Given the description of an element on the screen output the (x, y) to click on. 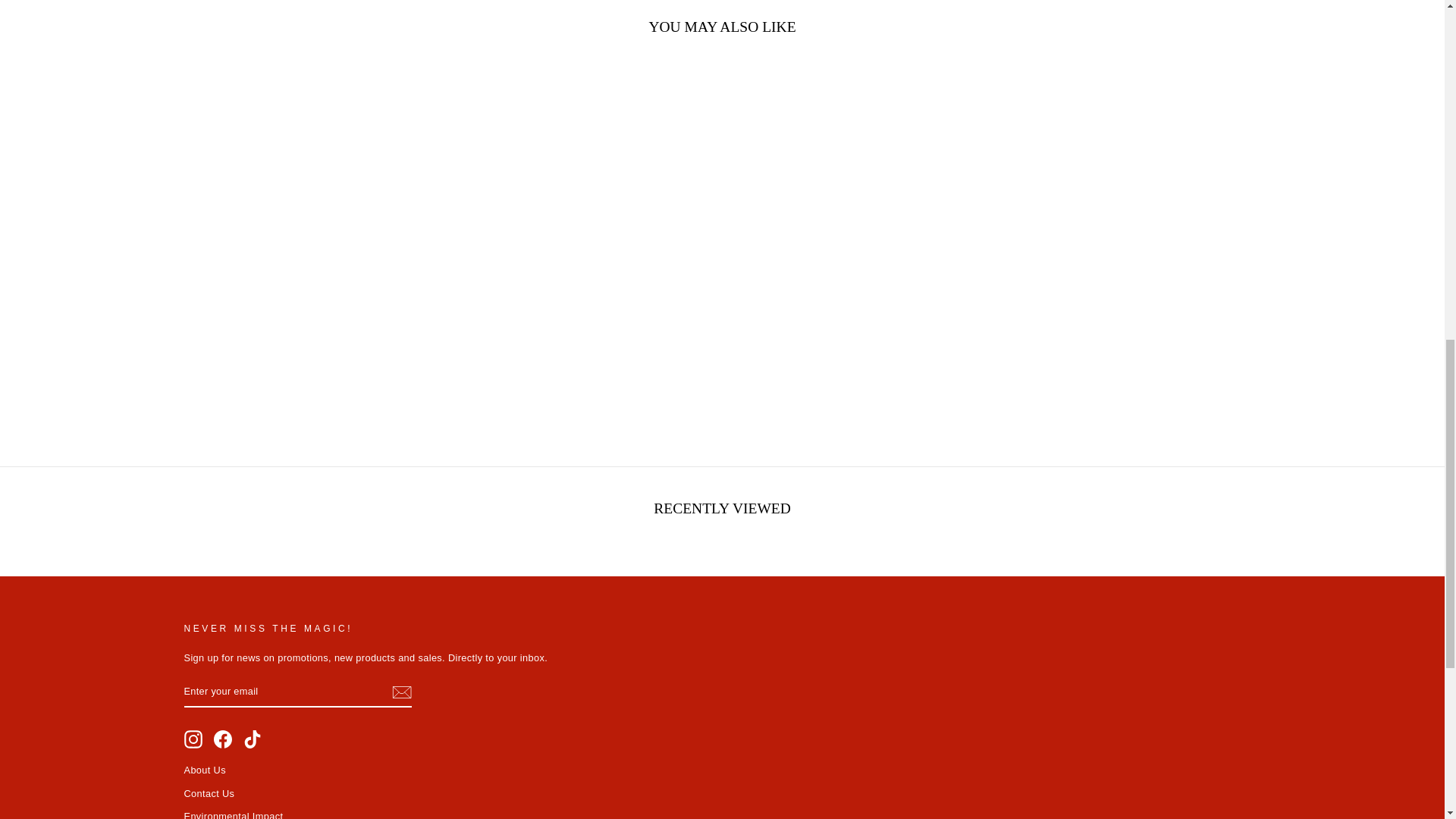
Sprinkle of Magic on Facebook (222, 739)
Contact Us (208, 792)
Environmental Impact (232, 812)
Sprinkle of Magic on Instagram (192, 739)
About Us (204, 770)
Facebook (222, 739)
Instagram (192, 739)
TikTok (251, 739)
Sprinkle of Magic on TikTok (251, 739)
